Given the description of an element on the screen output the (x, y) to click on. 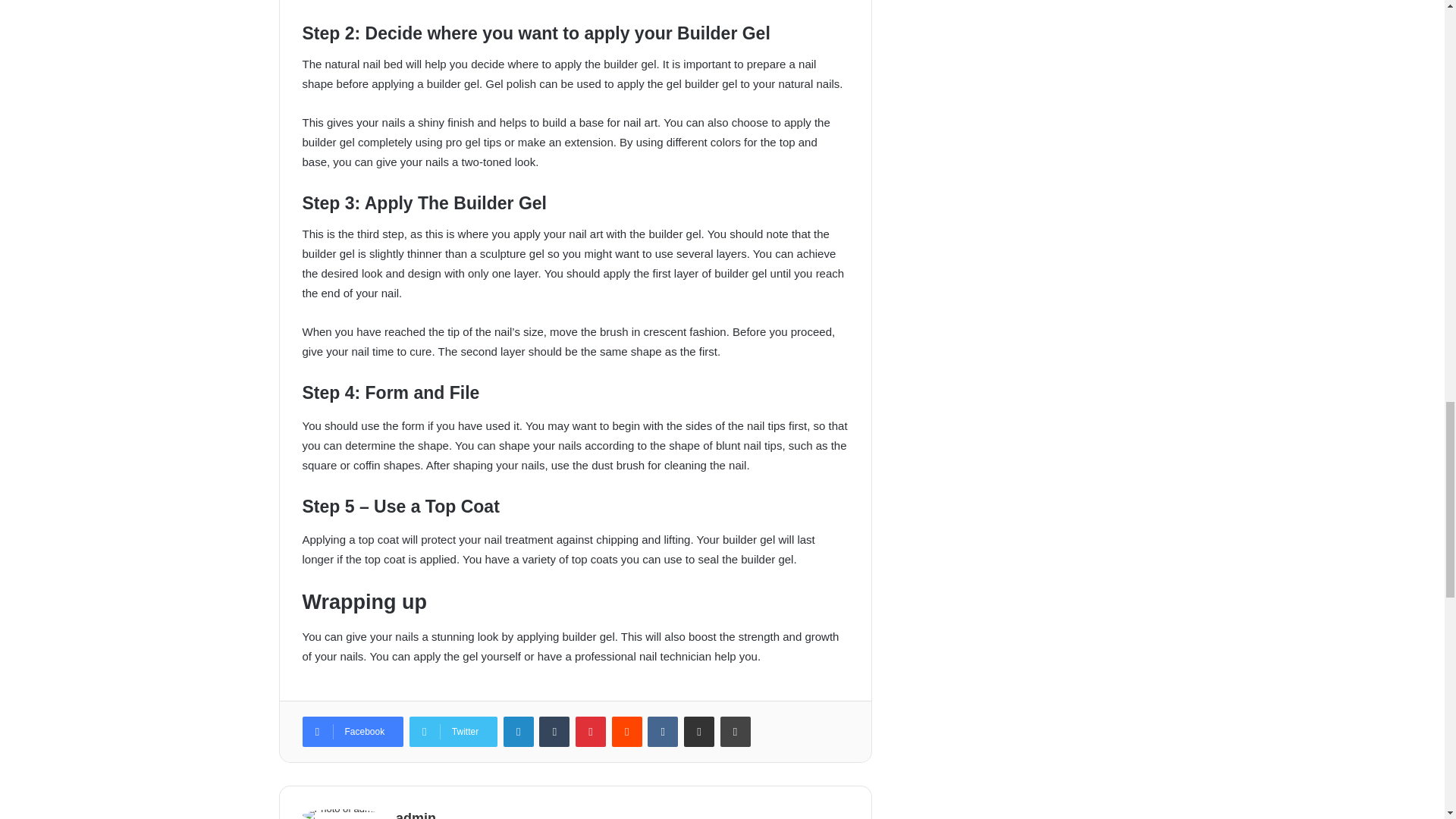
Tumblr (553, 731)
VKontakte (662, 731)
Share via Email (699, 731)
Facebook (352, 731)
LinkedIn (518, 731)
Twitter (453, 731)
Reddit (626, 731)
Pinterest (590, 731)
